Given the description of an element on the screen output the (x, y) to click on. 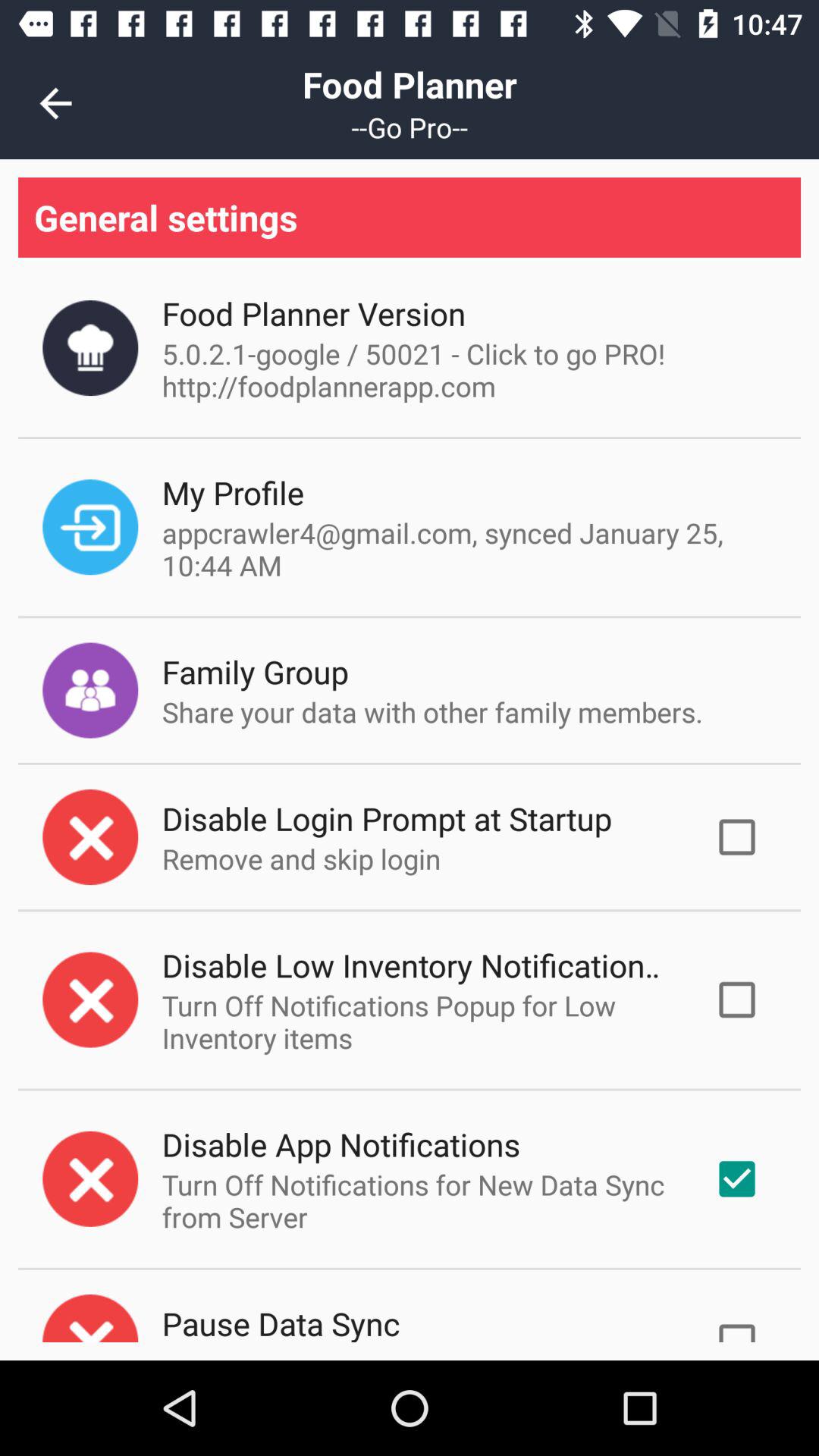
turn on the item above the family group item (465, 549)
